Given the description of an element on the screen output the (x, y) to click on. 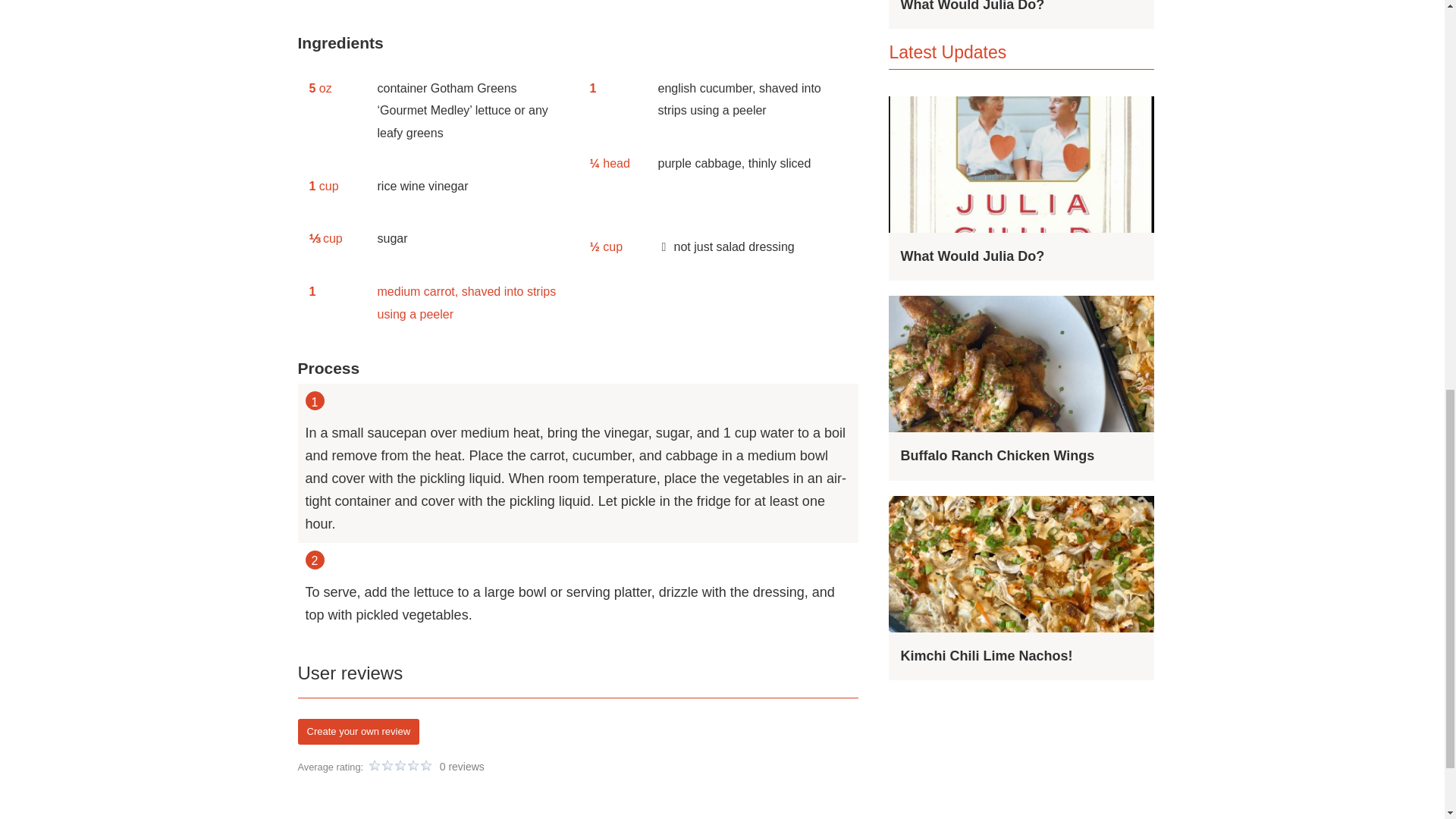
not just salad dressing (751, 246)
What Would Julia Do? (971, 6)
What Would Julia Do? (971, 255)
What Would Julia Do? (971, 6)
medium carrot, shaved into strips using a peeler (471, 302)
What Would Julia Do? (971, 255)
Kimchi Chili Lime Nachos! (985, 655)
Kimchi Chili Lime Nachos! (985, 655)
Buffalo Ranch Chicken Wings (996, 455)
Buffalo Ranch Chicken Wings (996, 455)
